Given the description of an element on the screen output the (x, y) to click on. 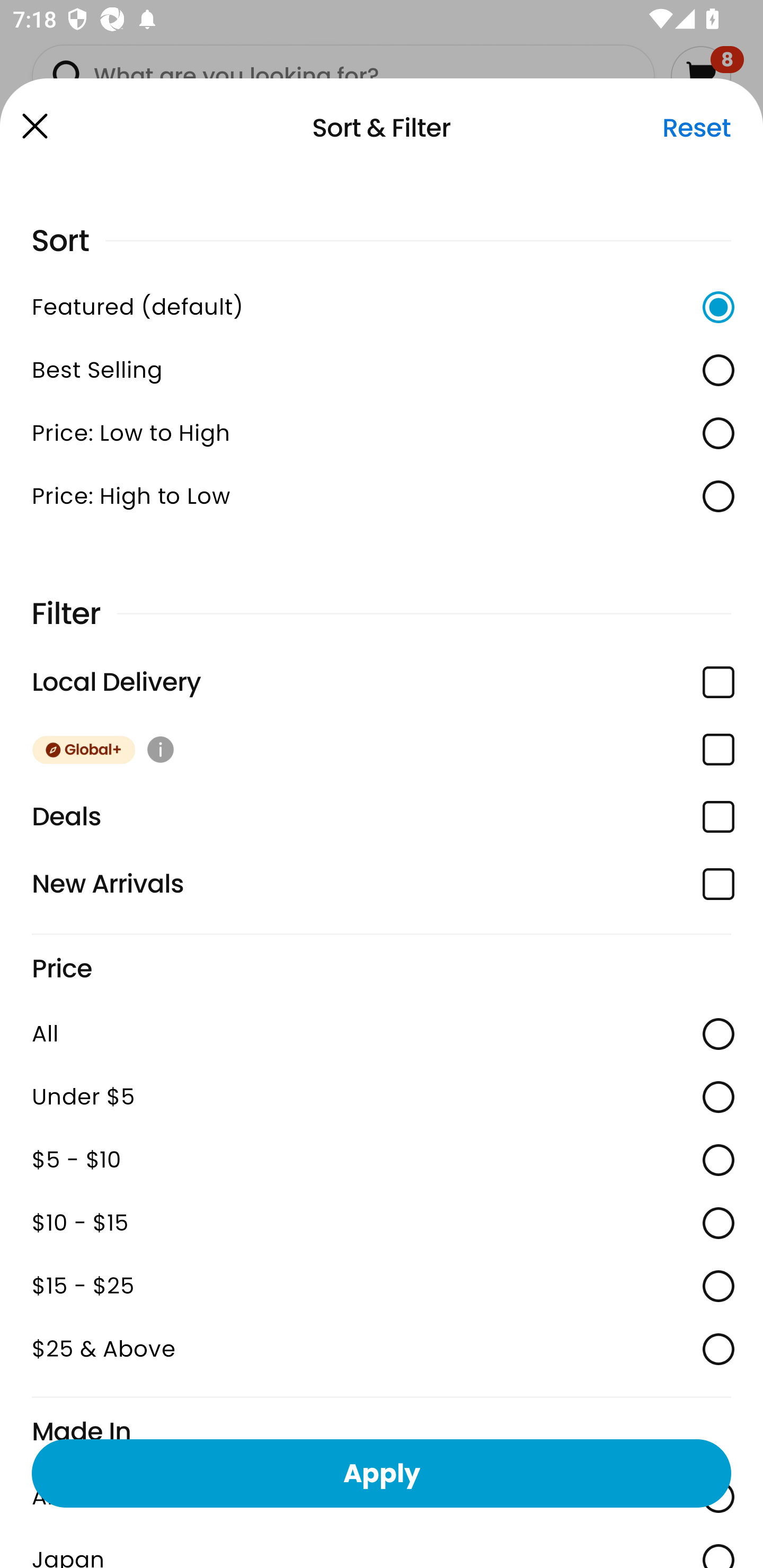
Reset (696, 127)
Apply (381, 1472)
